Given the description of an element on the screen output the (x, y) to click on. 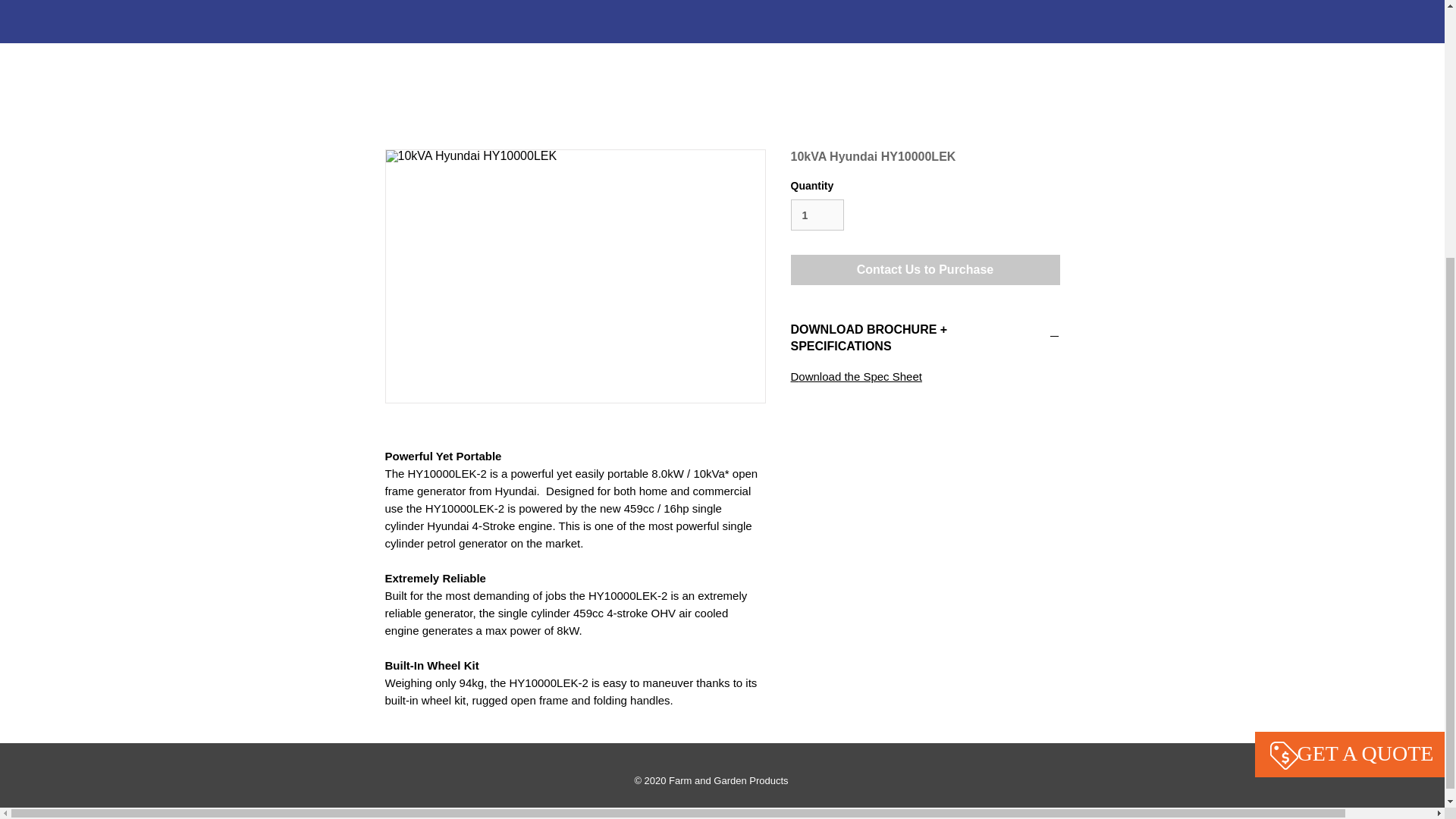
1 (817, 214)
